Given the description of an element on the screen output the (x, y) to click on. 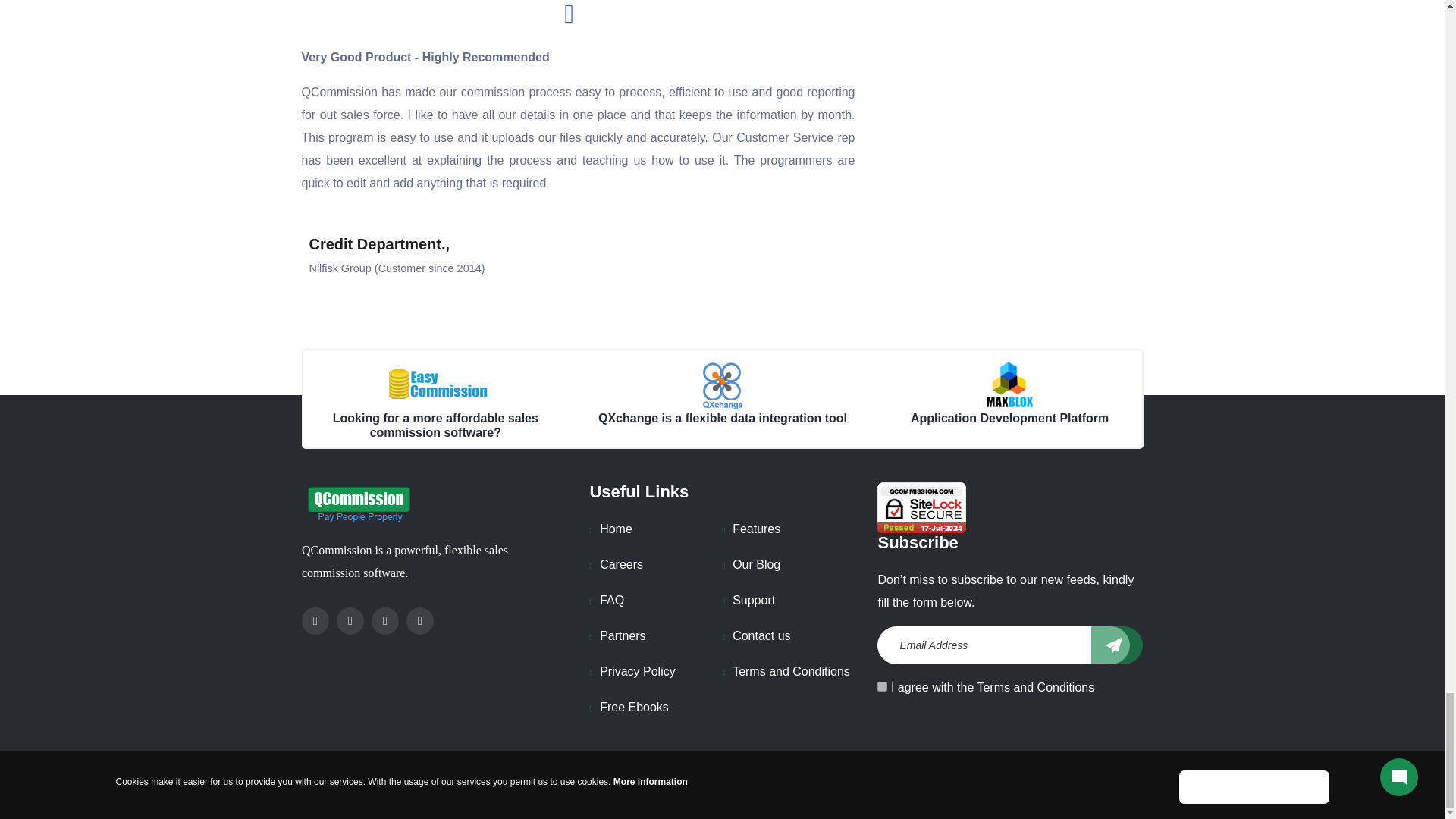
Email Address (1003, 645)
Subscribe (1116, 645)
QXchange is a flexible data integration tool (721, 384)
Application Development Platform (1008, 384)
on (881, 686)
Looking for a more affordable sales commission software? (434, 384)
SiteLock (921, 507)
